Given the description of an element on the screen output the (x, y) to click on. 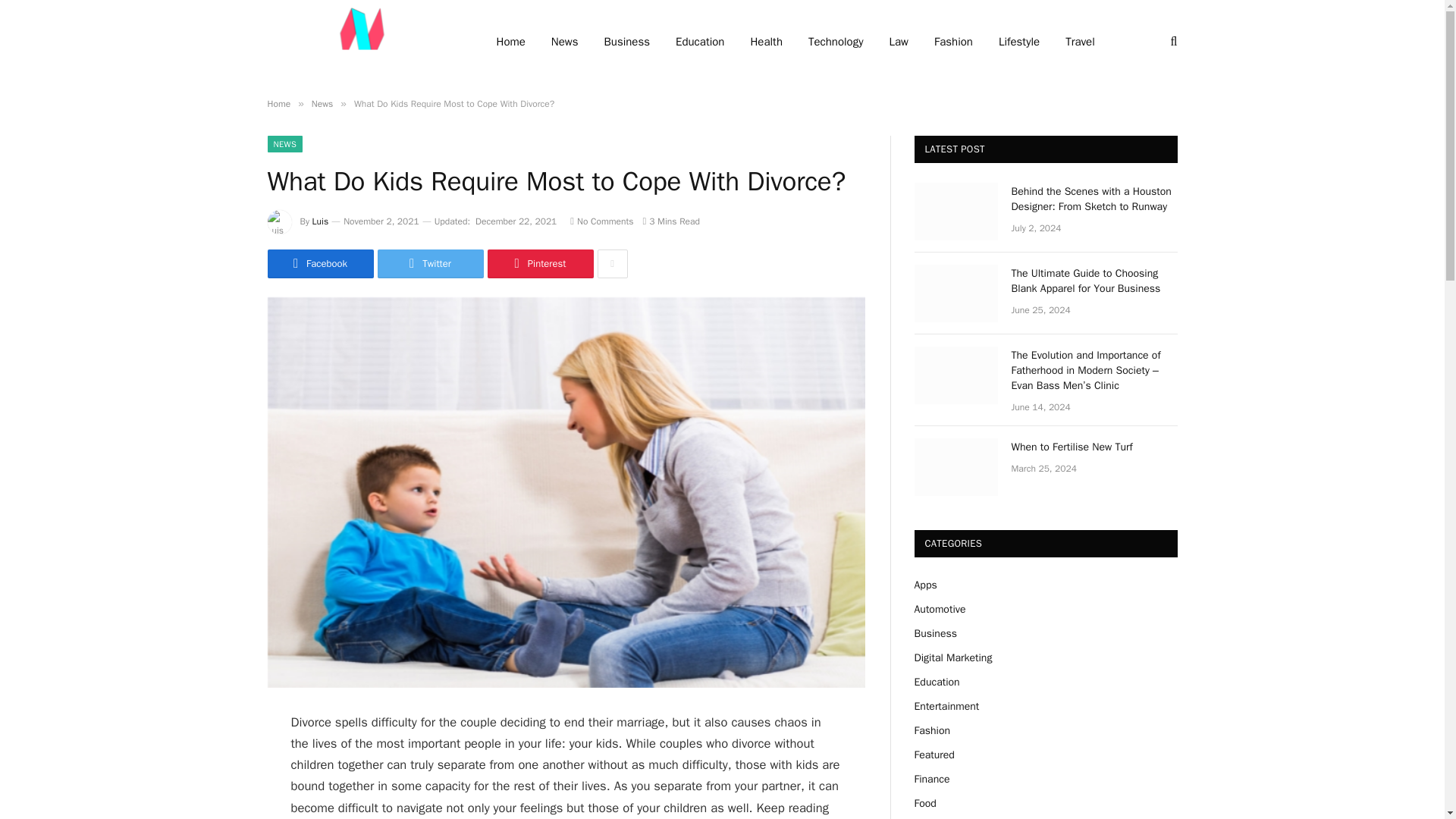
Share on Facebook (319, 263)
Home (277, 103)
Education (699, 41)
Luis (321, 221)
Share on Pinterest (539, 263)
Pinterest (539, 263)
TheNews247 (361, 41)
NEWS (284, 143)
Posts by Luis (321, 221)
